Given the description of an element on the screen output the (x, y) to click on. 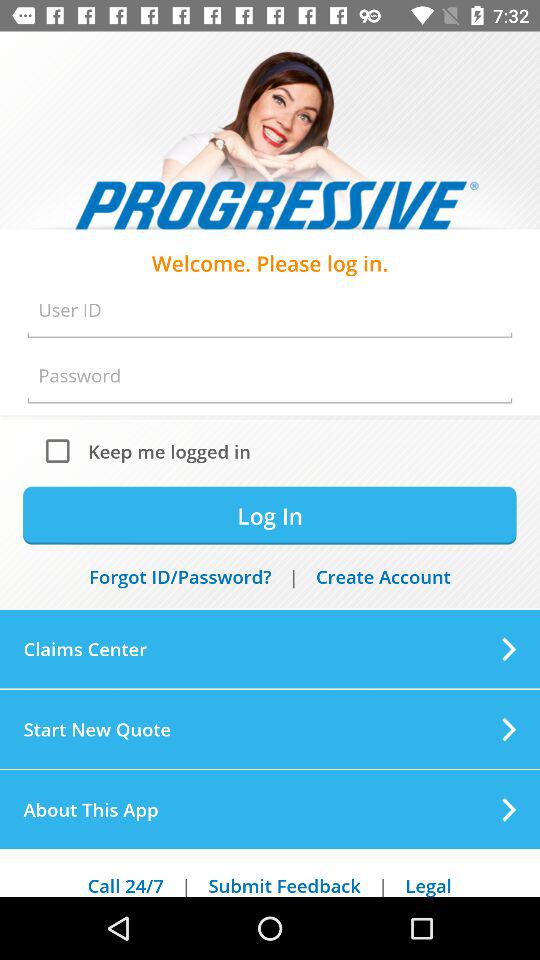
enter user id (269, 310)
